Given the description of an element on the screen output the (x, y) to click on. 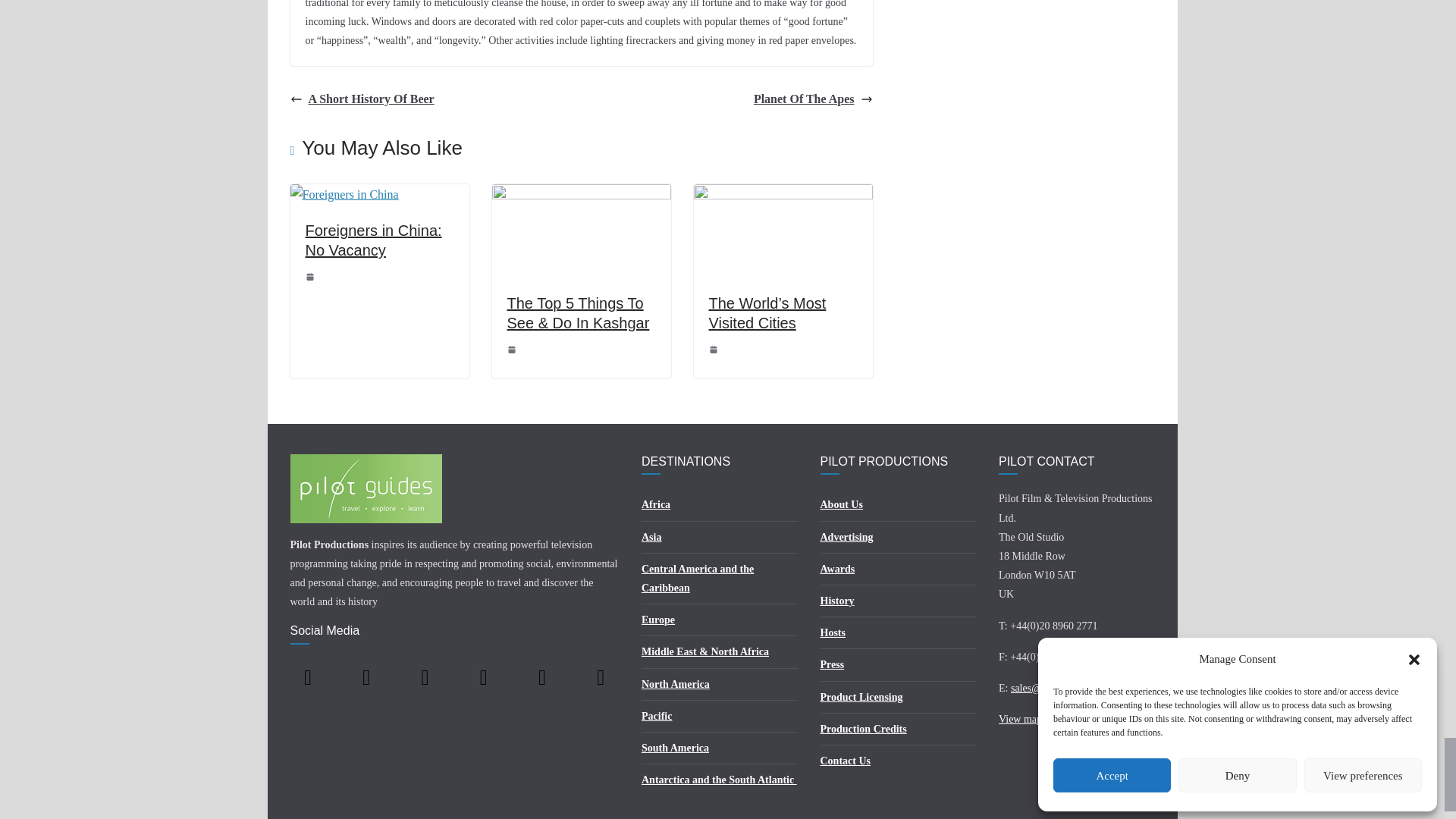
Foreigners in China: No Vacancy (372, 239)
Foreigners in China: No Vacancy (343, 194)
